Given the description of an element on the screen output the (x, y) to click on. 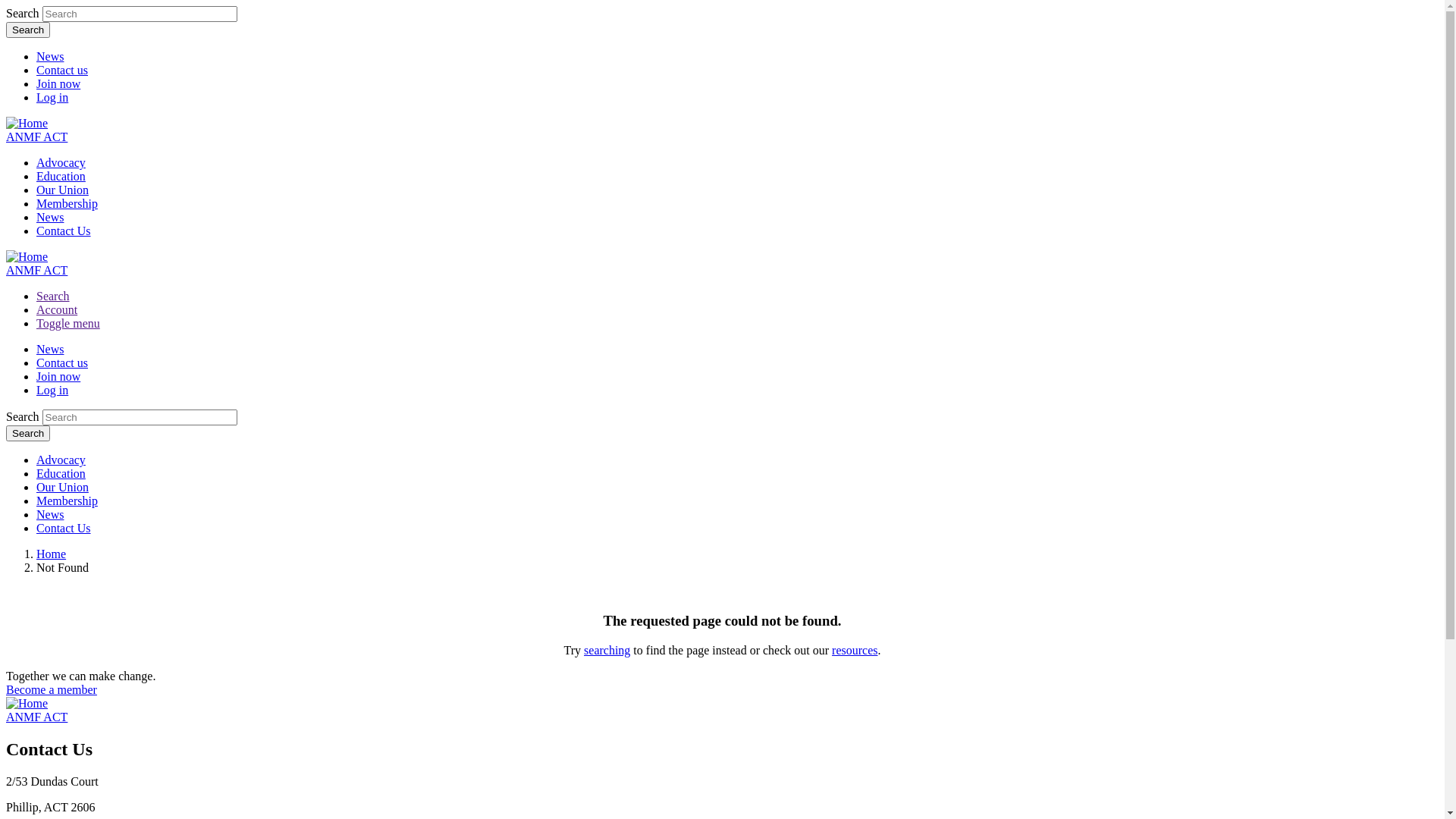
Our Union Element type: text (62, 486)
News Element type: text (49, 348)
Home Element type: text (50, 553)
Join now Element type: text (58, 376)
Toggle menu Element type: text (68, 322)
Contact Us Element type: text (63, 230)
Account Element type: text (56, 309)
Search Element type: text (52, 295)
Contact us Element type: text (61, 362)
Education Element type: text (60, 473)
News Element type: text (49, 514)
Skip to main content Element type: text (6, 6)
Membership Element type: text (66, 500)
Education Element type: text (60, 175)
Join now Element type: text (58, 83)
ANMF ACT Element type: text (36, 716)
ANMF ACT Element type: text (36, 136)
searching Element type: text (606, 649)
Contact Us Element type: text (63, 527)
ANMF ACT Element type: text (36, 269)
News Element type: text (49, 216)
News Element type: text (49, 56)
Search Element type: text (28, 433)
resources Element type: text (854, 649)
Log in Element type: text (52, 97)
Search Element type: text (28, 29)
Become a member Element type: text (51, 689)
Advocacy Element type: text (60, 162)
Log in Element type: text (52, 389)
Our Union Element type: text (62, 189)
Advocacy Element type: text (60, 459)
Membership Element type: text (66, 203)
Contact us Element type: text (61, 69)
